Given the description of an element on the screen output the (x, y) to click on. 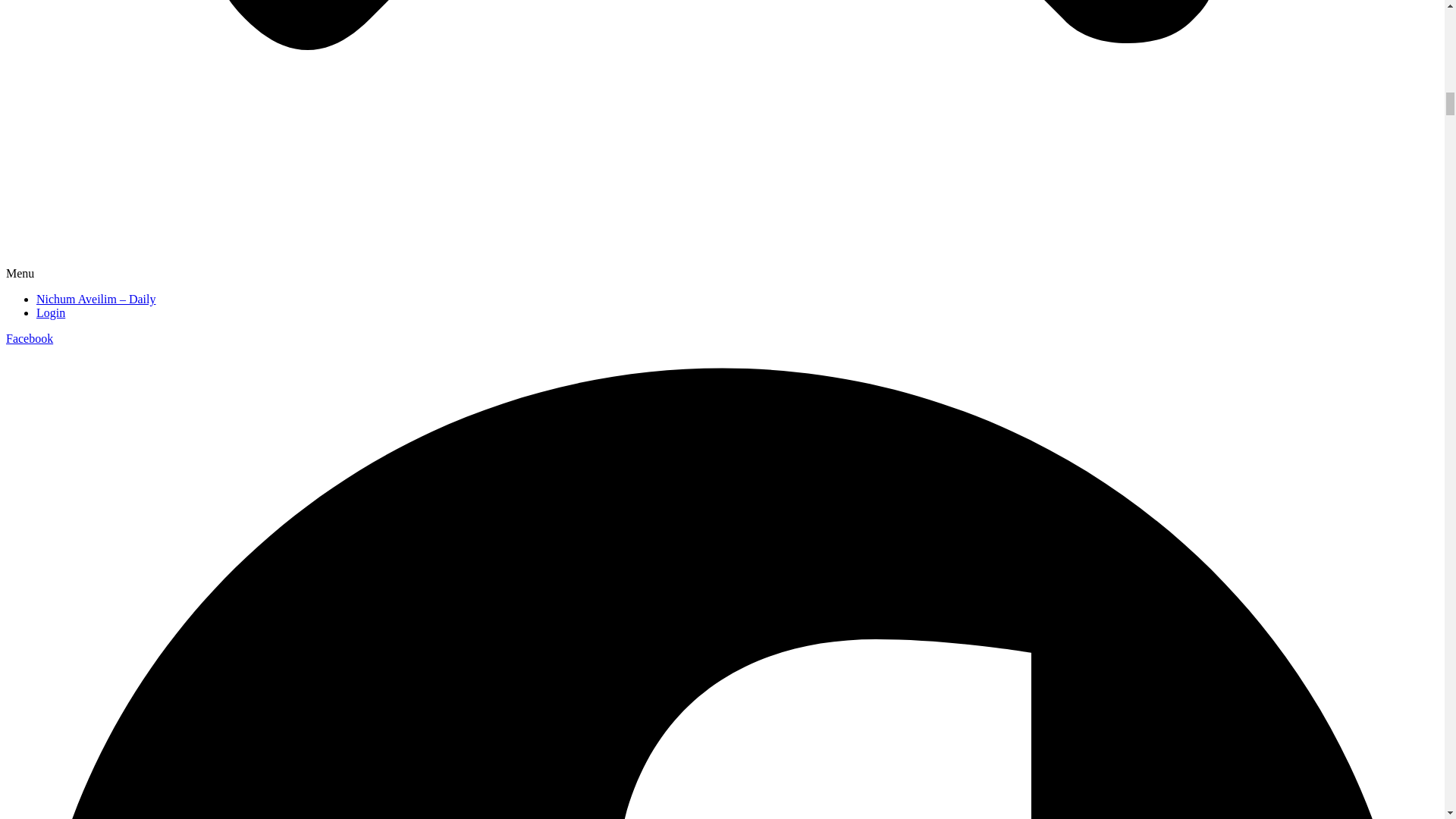
Login (50, 312)
